Given the description of an element on the screen output the (x, y) to click on. 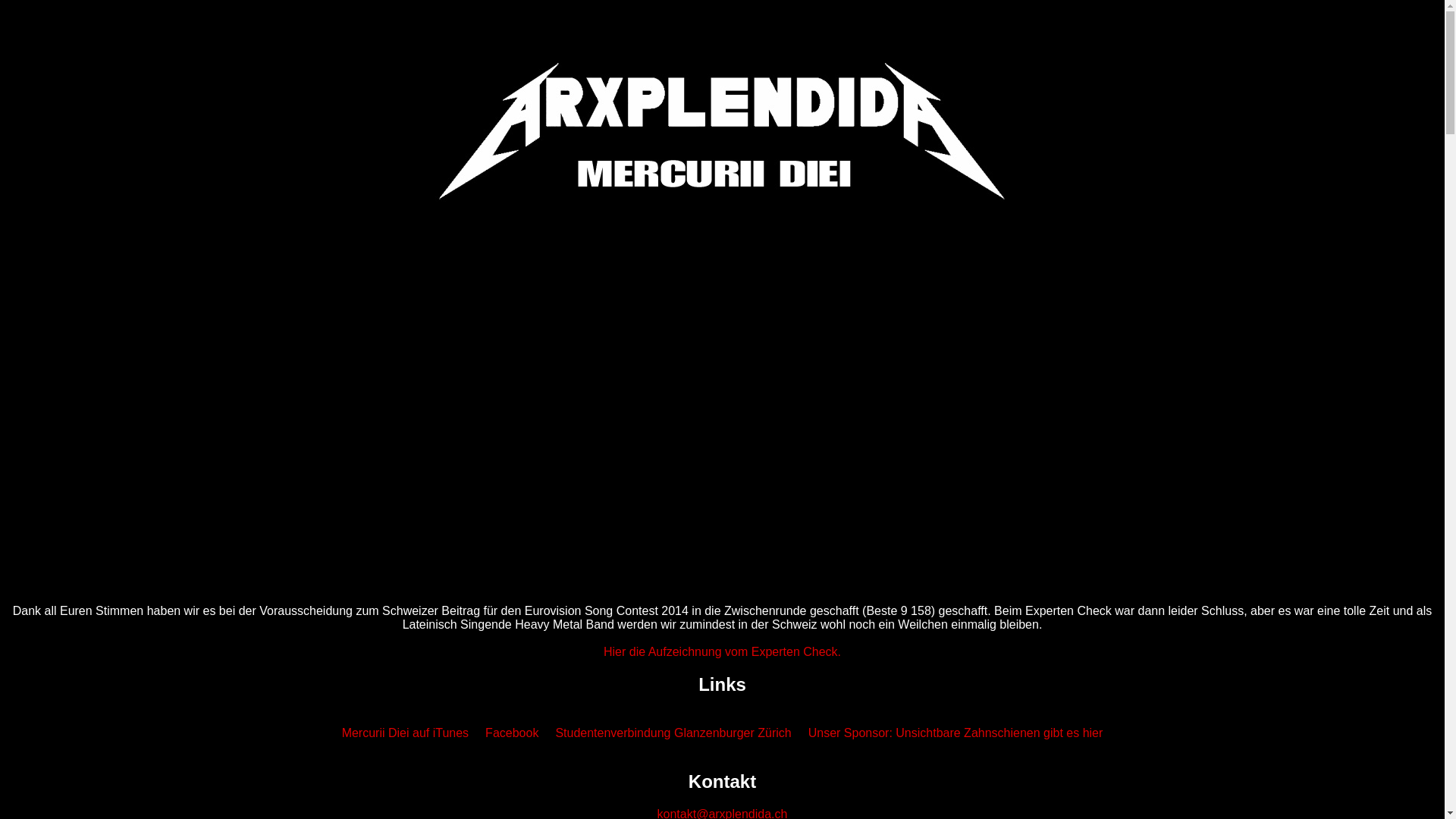
Facebook Element type: text (511, 732)
Hier die Aufzeichnung vom Experten Check. Element type: text (721, 651)
Unser Sponsor: Unsichtbare Zahnschienen gibt es hier Element type: text (955, 732)
Mercurii Diei auf iTunes Element type: text (405, 732)
